Given the description of an element on the screen output the (x, y) to click on. 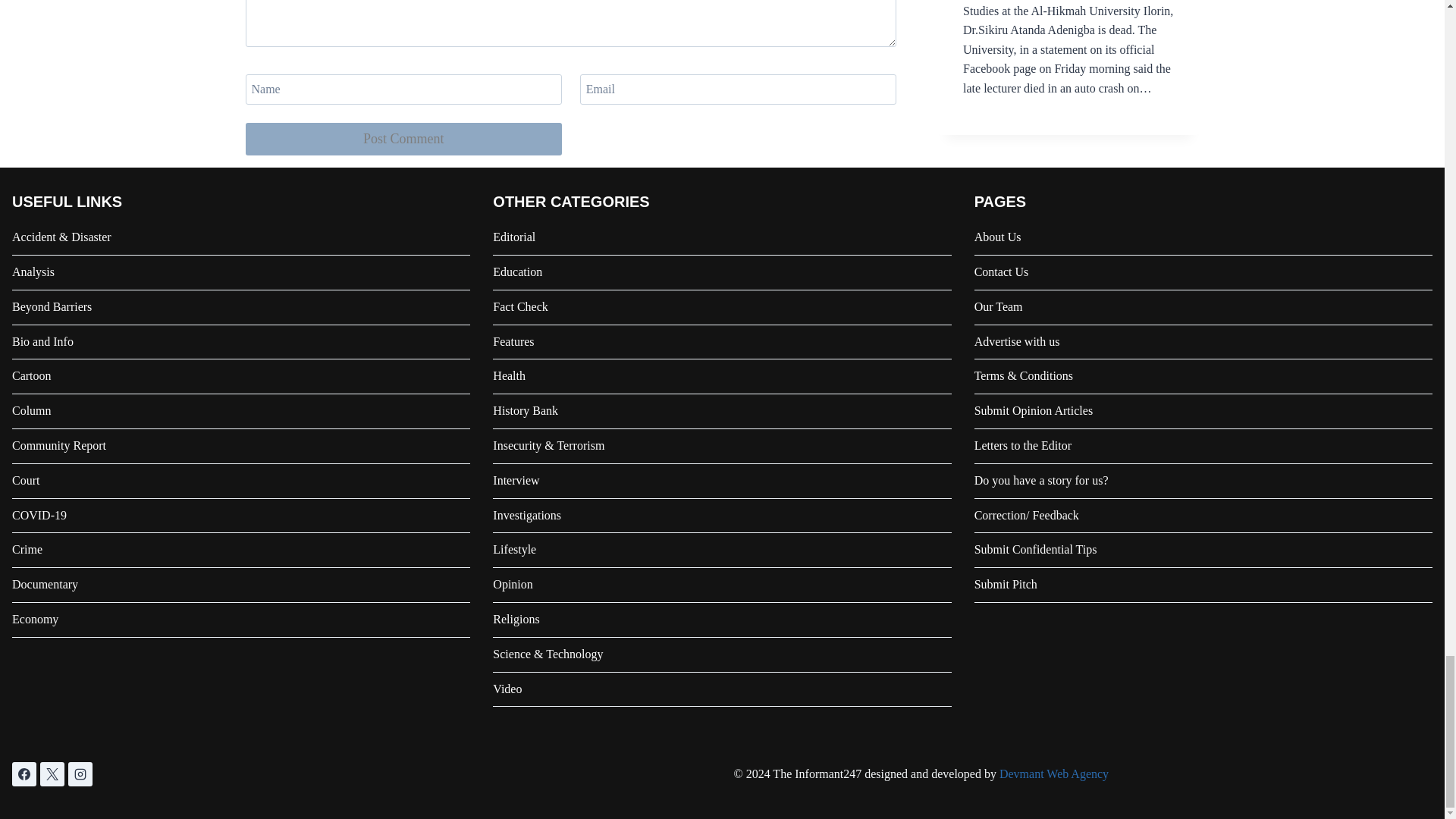
Post Comment (404, 138)
